Given the description of an element on the screen output the (x, y) to click on. 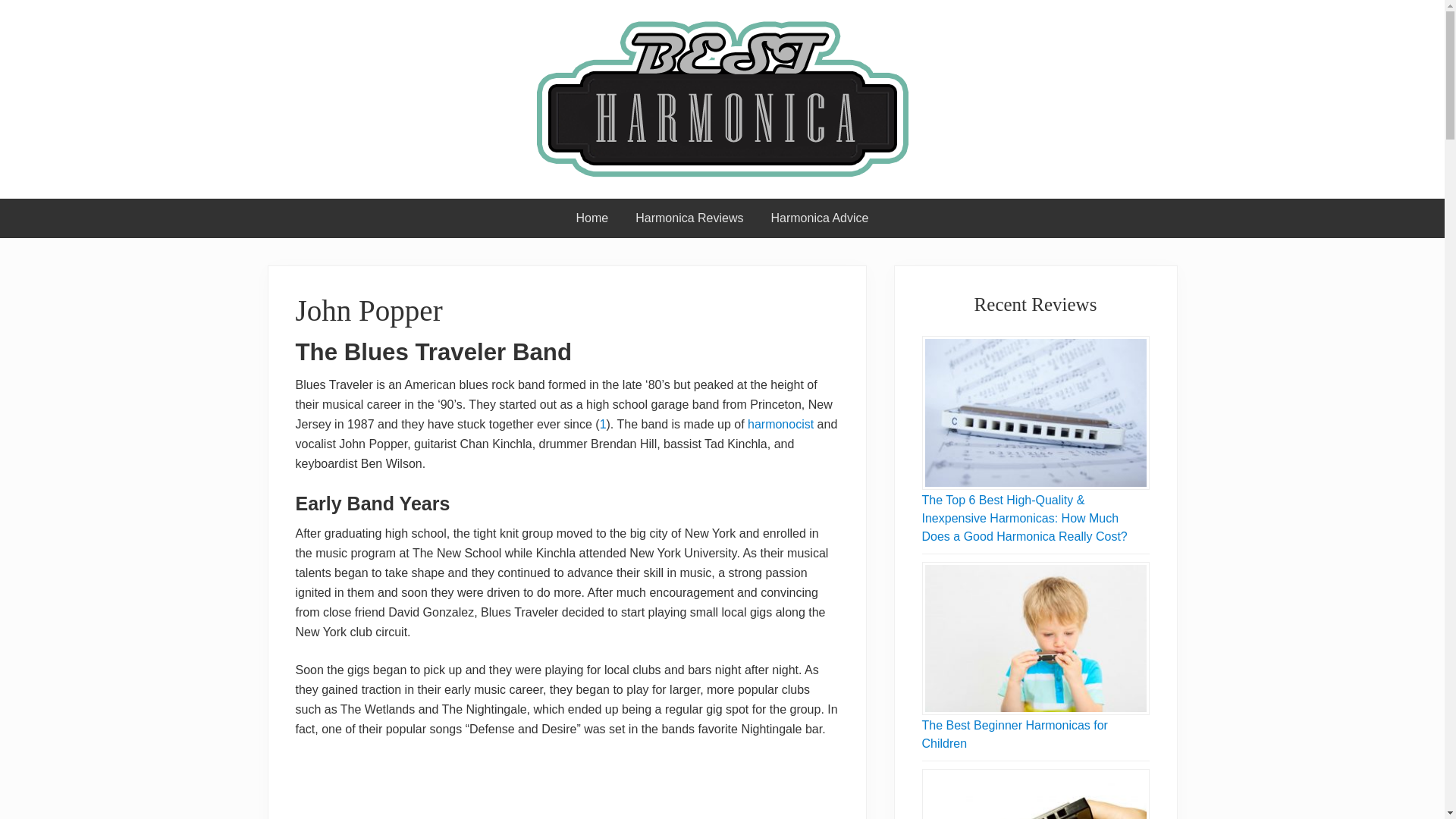
harmonocist (780, 423)
Harmonica Advice (819, 218)
The Best Beginner Harmonicas for Children (1014, 734)
Home (592, 218)
Harmonica Reviews (689, 218)
